Given the description of an element on the screen output the (x, y) to click on. 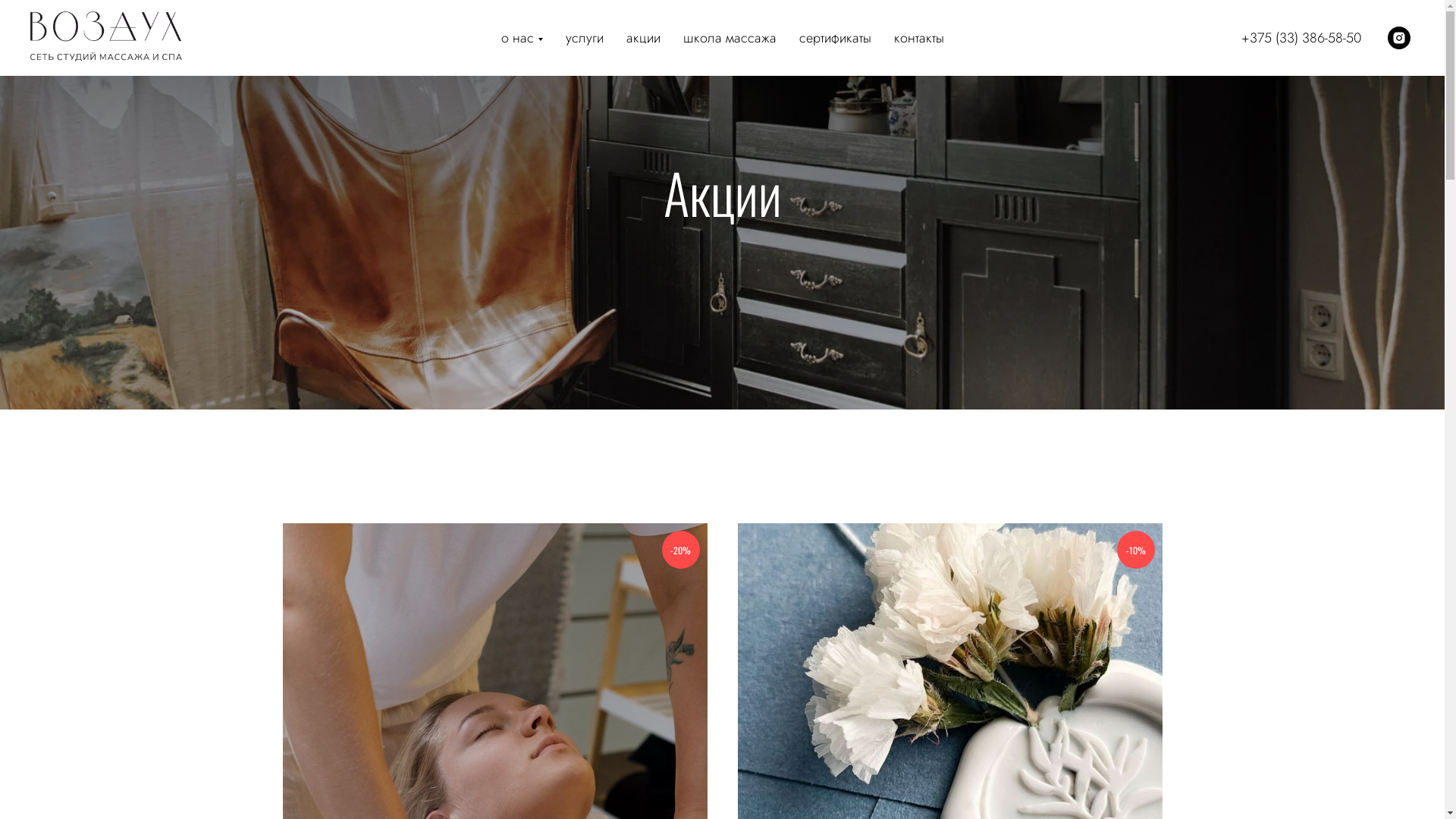
+375 (33) 386-58-50 Element type: text (1301, 37)
